Given the description of an element on the screen output the (x, y) to click on. 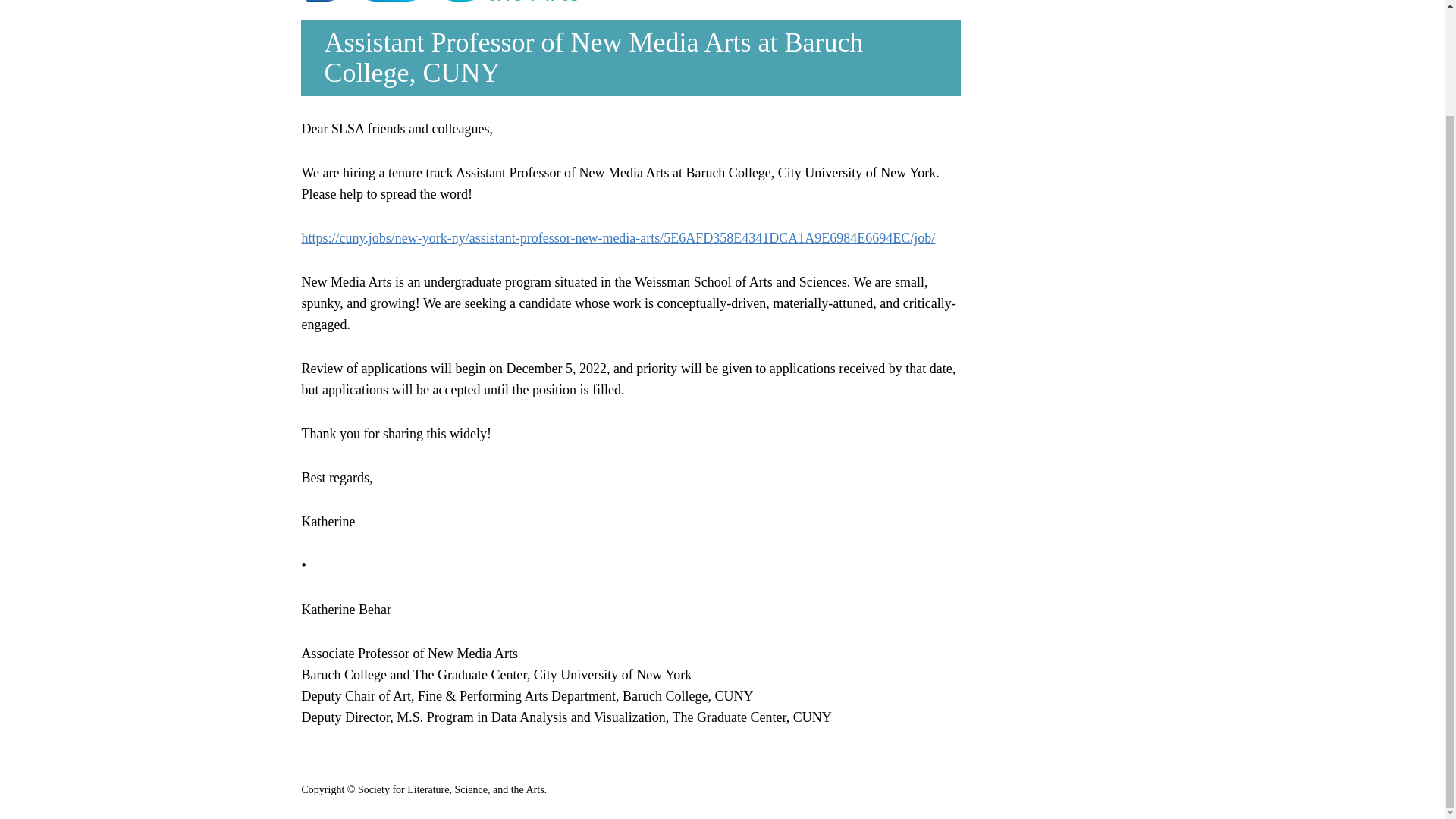
Society for Literature, Science, and the Arts (481, 2)
AWARDS (1011, 2)
GOVERNANCE (908, 2)
PUBLICATIONS (1117, 2)
NEWS (804, 2)
